Given the description of an element on the screen output the (x, y) to click on. 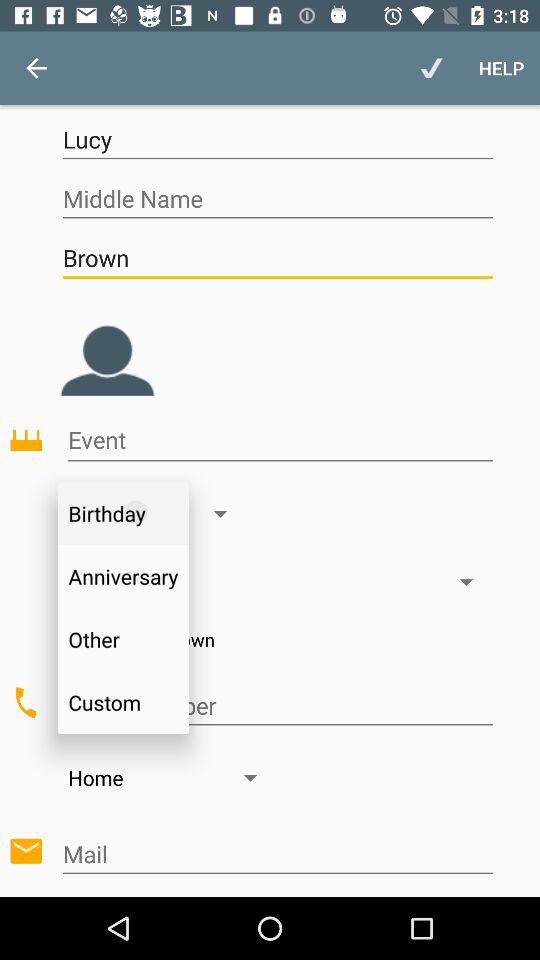
event type (280, 439)
